Given the description of an element on the screen output the (x, y) to click on. 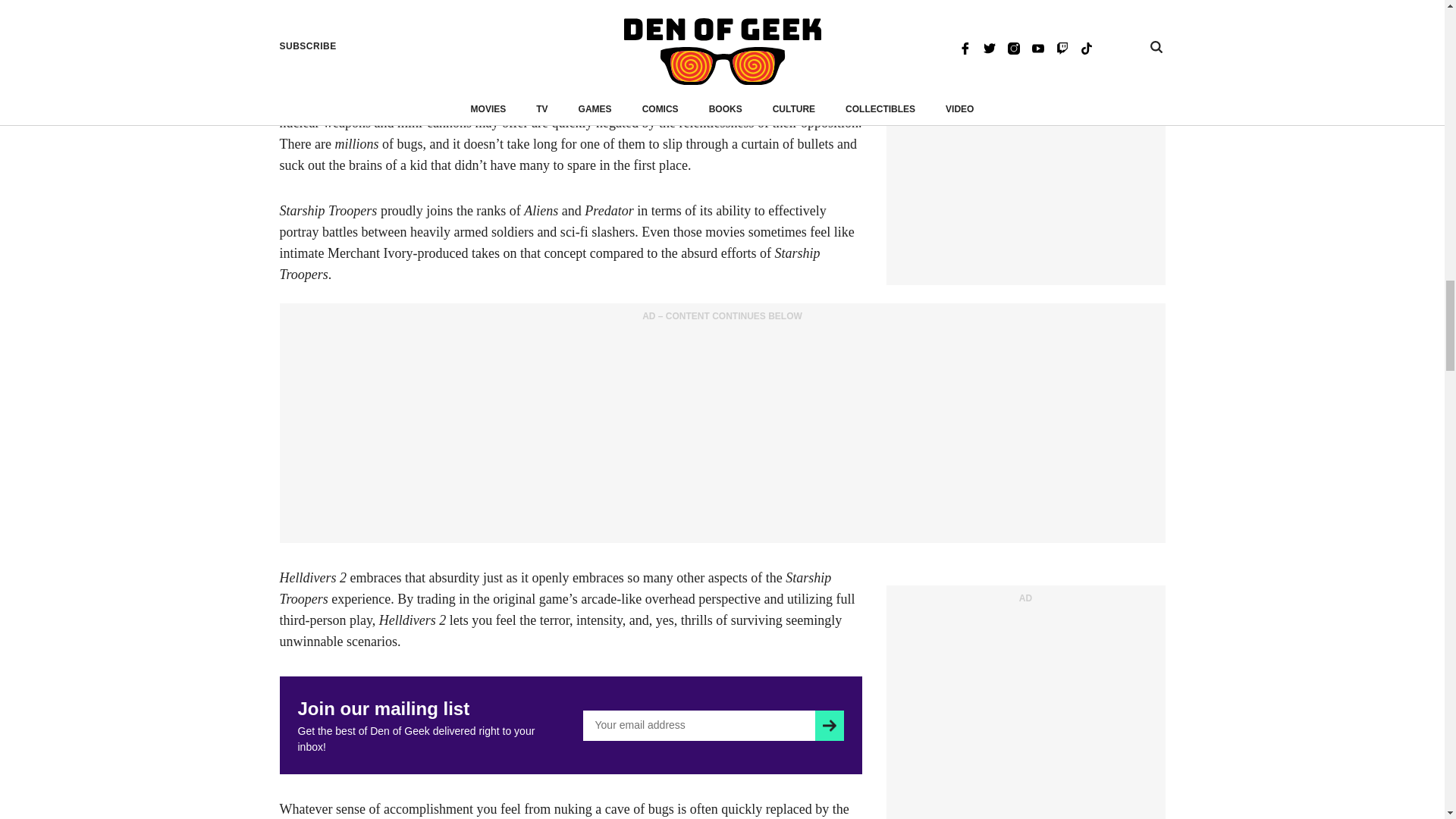
Subscribe (829, 725)
